Given the description of an element on the screen output the (x, y) to click on. 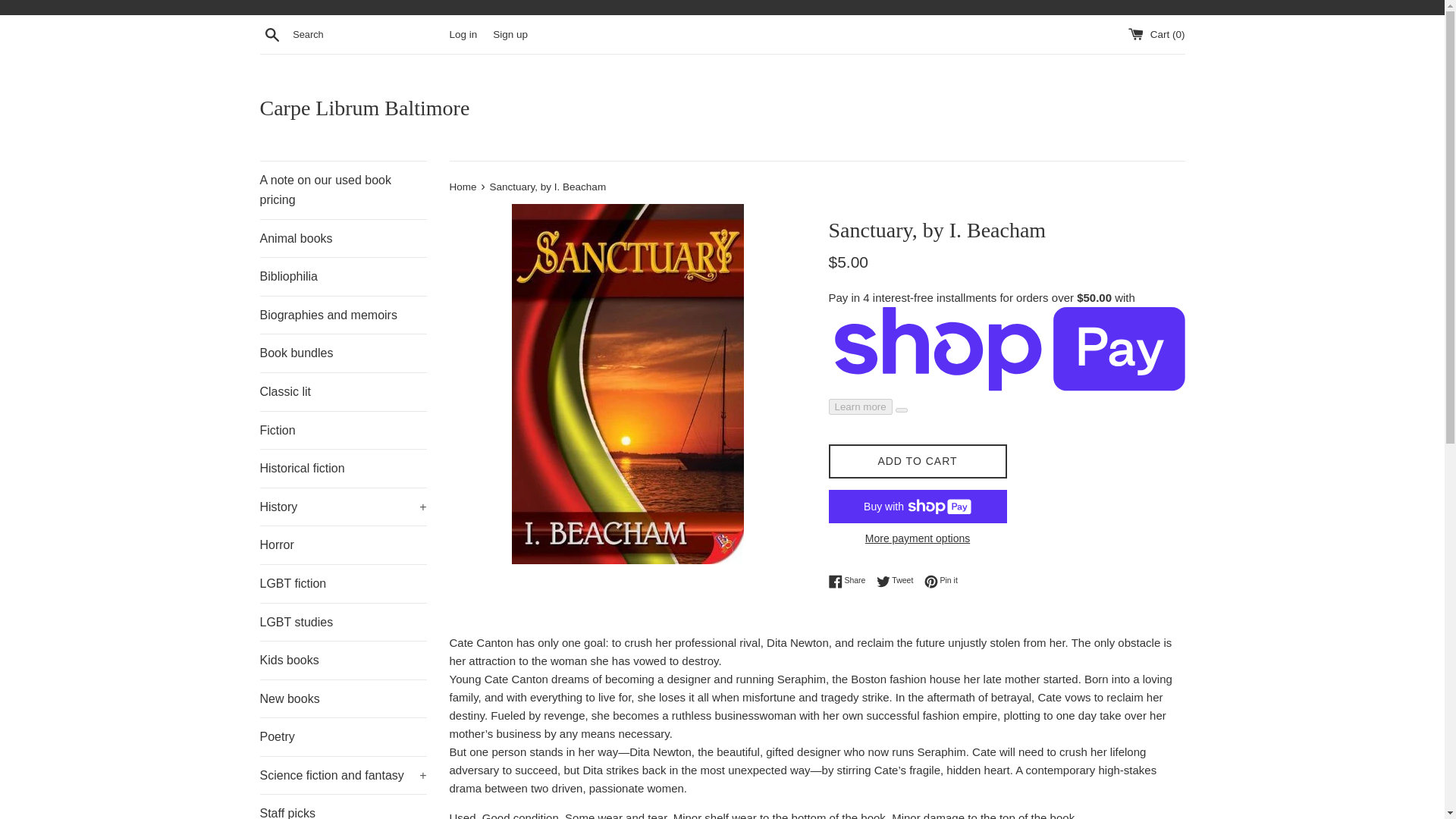
New books (342, 699)
Share on Facebook (850, 581)
Book bundles (342, 353)
Carpe Librum Baltimore (722, 107)
Search (271, 34)
Back to the frontpage (463, 186)
Sign up (510, 34)
Horror (342, 545)
Biographies and memoirs (342, 315)
Pin on Pinterest (941, 581)
LGBT studies (342, 622)
Classic lit (342, 392)
Poetry (342, 736)
A note on our used book pricing (342, 189)
Kids books (342, 660)
